Given the description of an element on the screen output the (x, y) to click on. 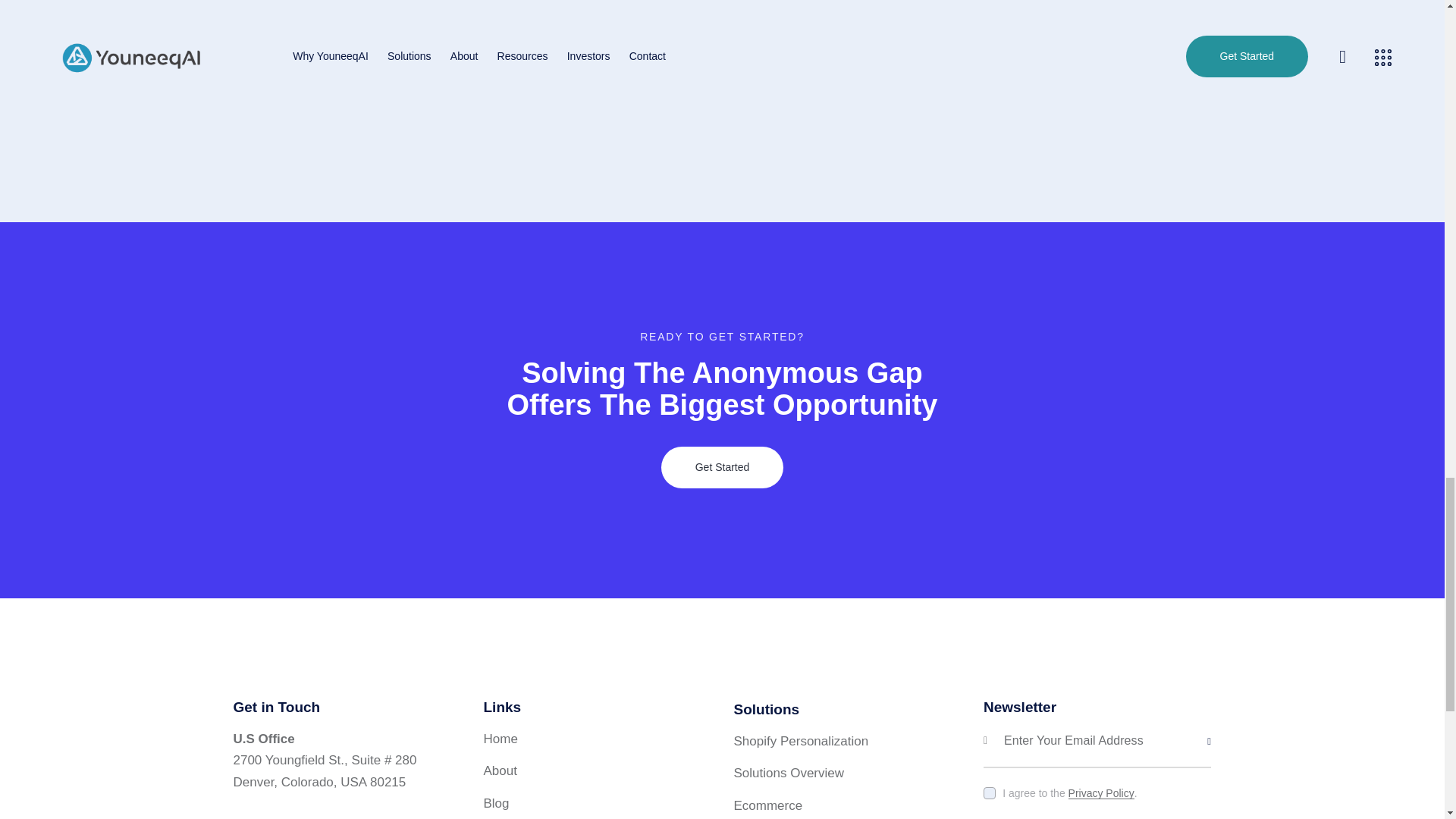
1 (1216, 719)
